Given the description of an element on the screen output the (x, y) to click on. 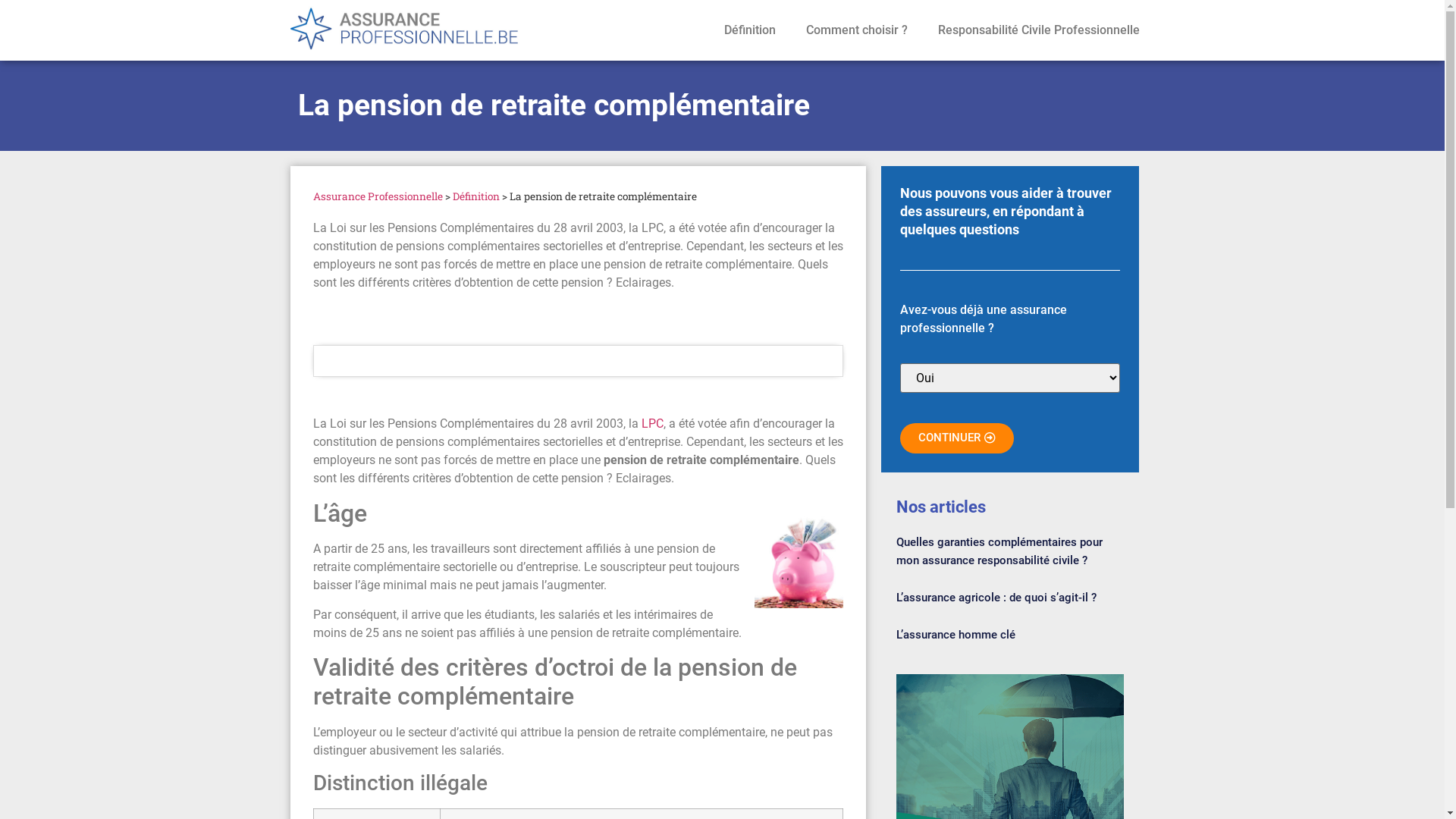
CONTINUER Element type: text (956, 438)
LPC Element type: text (652, 423)
Comment choisir ? Element type: text (856, 29)
Assurance_professionnel_logo Element type: hover (419, 30)
Assurance Professionnelle Element type: text (377, 196)
